Given the description of an element on the screen output the (x, y) to click on. 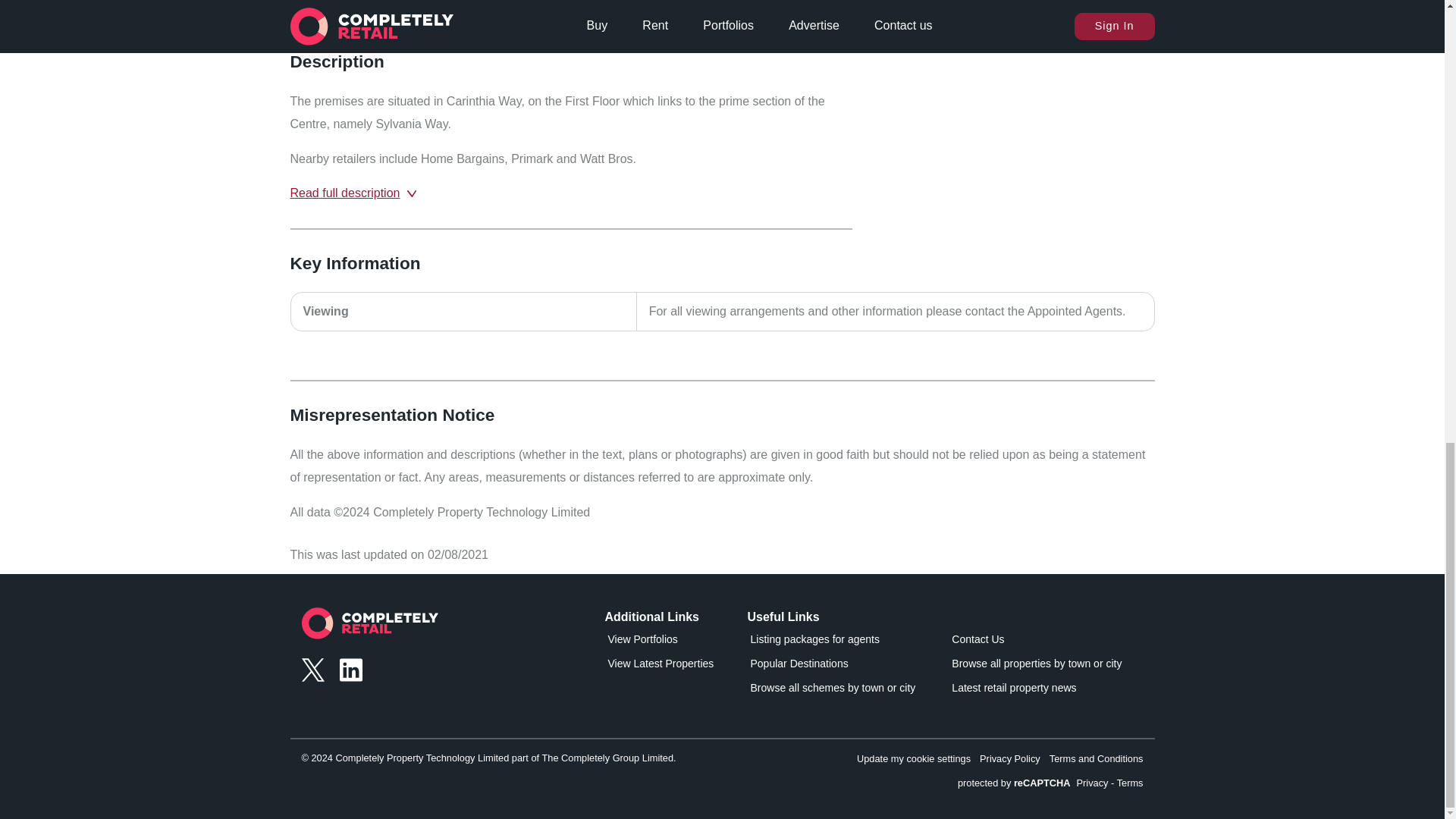
Browse all schemes by town or city (833, 690)
View Latest Properties (673, 666)
Latest retail property news (1036, 690)
Terms and Conditions (1095, 758)
Privacy Policy (1010, 758)
Popular Destinations (833, 666)
Listing packages for agents (833, 642)
Contact Us (1036, 642)
View Latest Properties (673, 666)
Terms and Conditions (1095, 758)
Browse all properties by town or city (1036, 666)
Listing packages for agents (833, 642)
Latest retail property news (1036, 690)
View Portfolios (673, 642)
View Portfolios (673, 642)
